Given the description of an element on the screen output the (x, y) to click on. 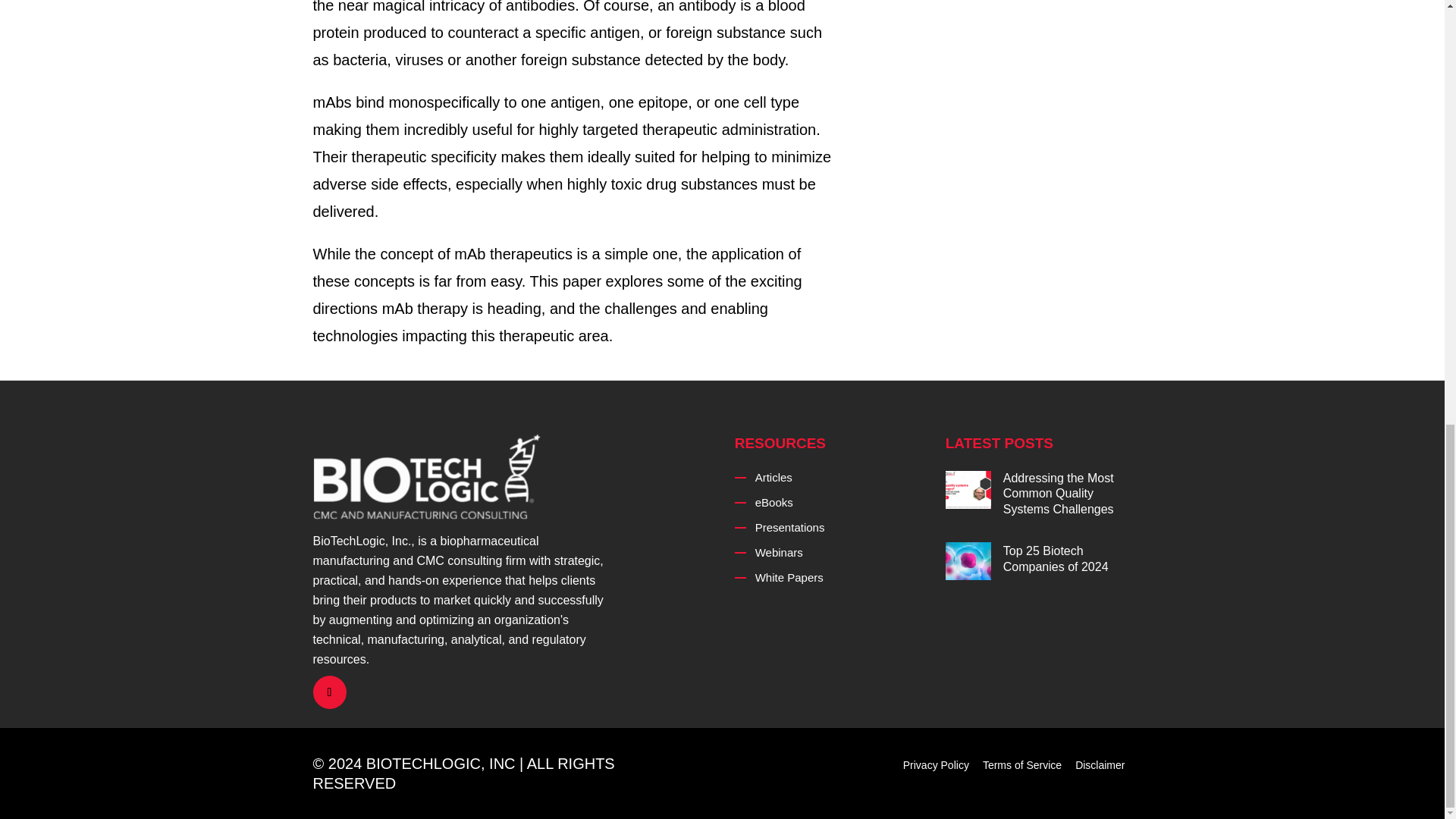
Follow on LinkedIn (329, 692)
